Given the description of an element on the screen output the (x, y) to click on. 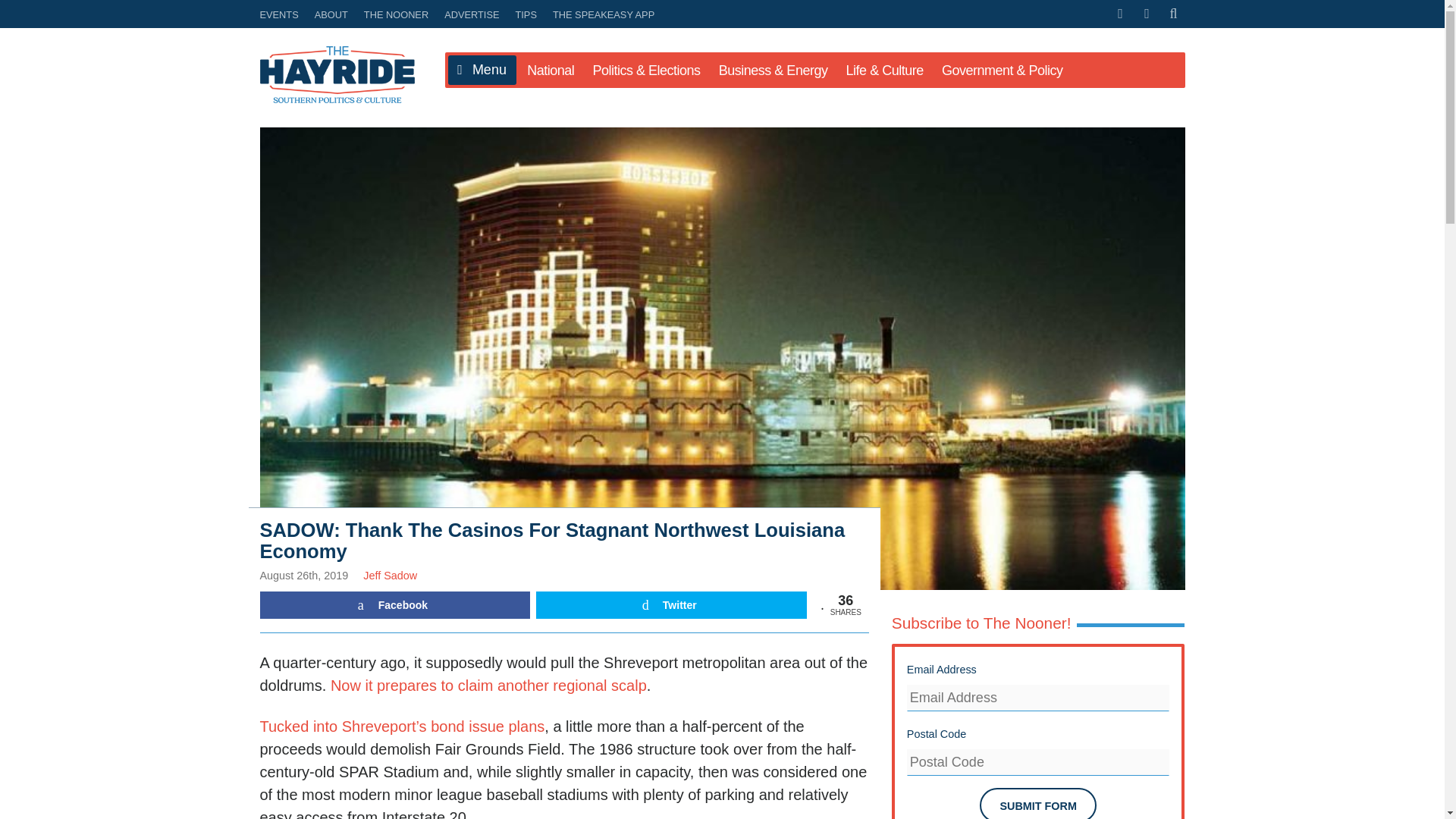
THE NOONER (395, 14)
Share on Twitter (670, 605)
ABOUT (330, 14)
EVENTS (281, 14)
National (549, 70)
TIPS (526, 14)
Jeff Sadow (389, 575)
Menu (480, 70)
ADVERTISE (471, 14)
Twitter (670, 605)
Now it prepares to claim another regional scalp (488, 685)
Facebook (394, 605)
THE SPEAKEASY APP (600, 14)
Share on Facebook (394, 605)
